Given the description of an element on the screen output the (x, y) to click on. 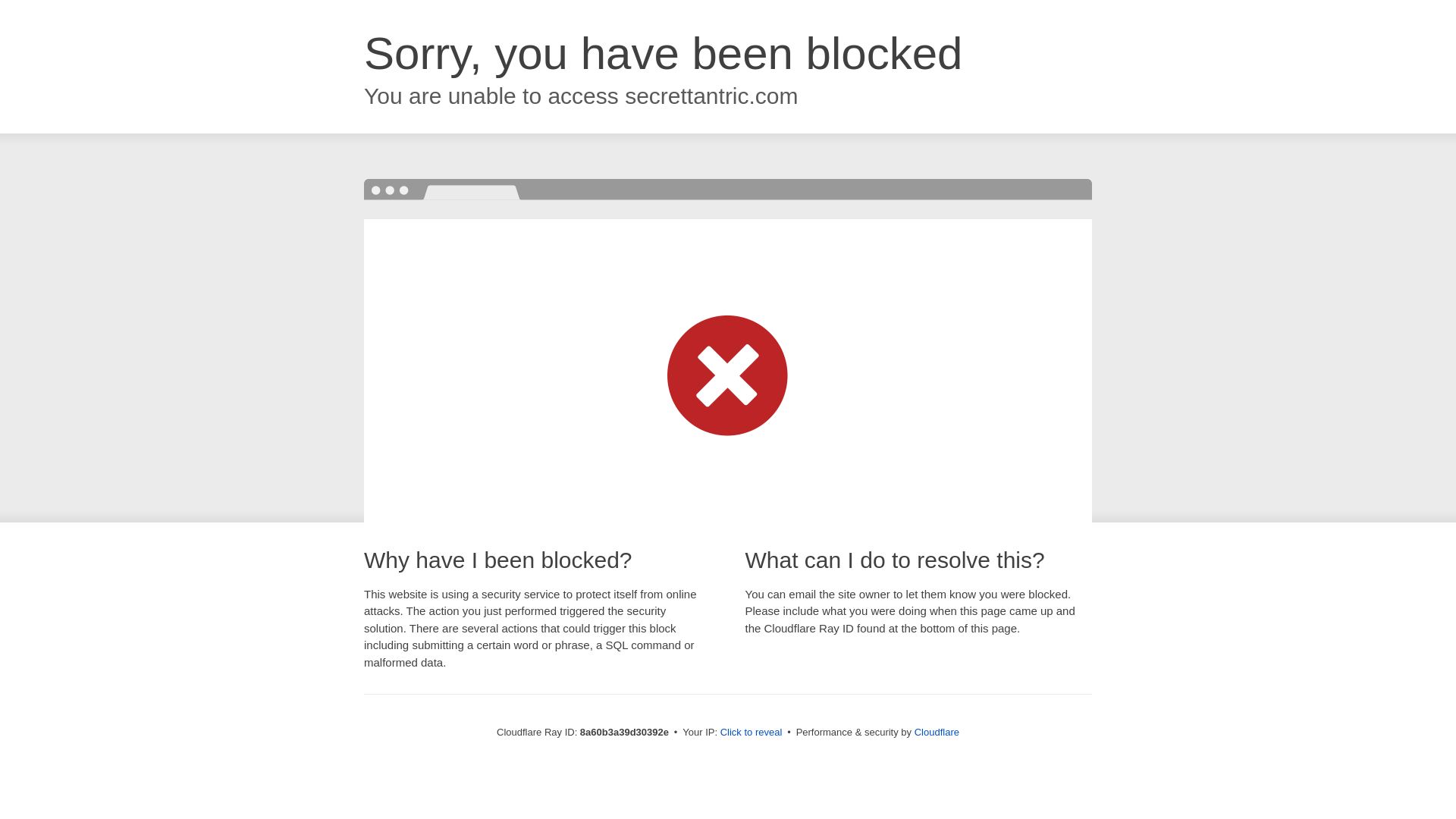
Cloudflare (936, 731)
Click to reveal (751, 732)
